Given the description of an element on the screen output the (x, y) to click on. 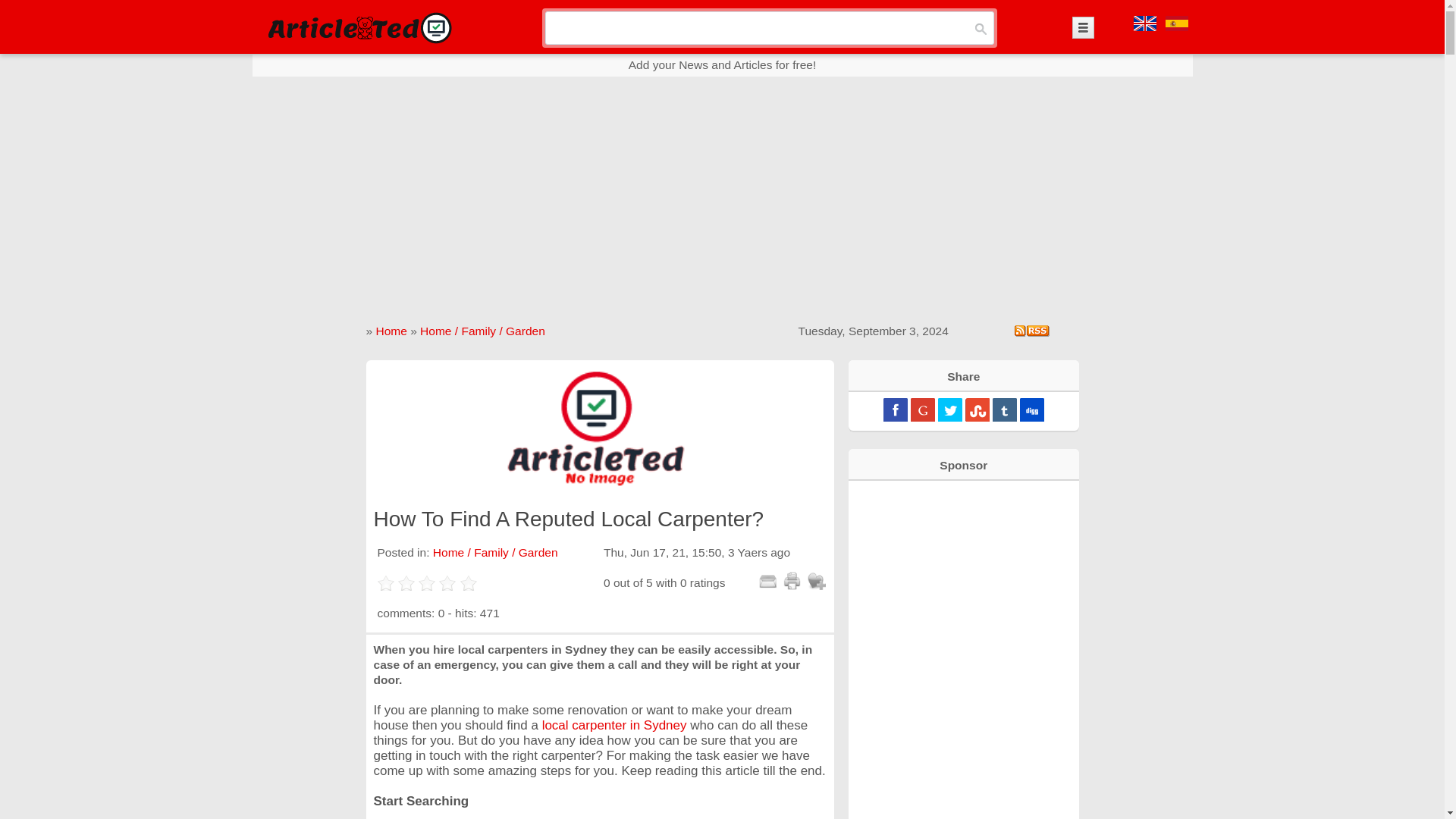
local carpenter in Sydney (614, 725)
How To Find A Reputed Local Carpenter? (598, 428)
Home (390, 330)
ArticleTed -  News and Articles (357, 27)
